Given the description of an element on the screen output the (x, y) to click on. 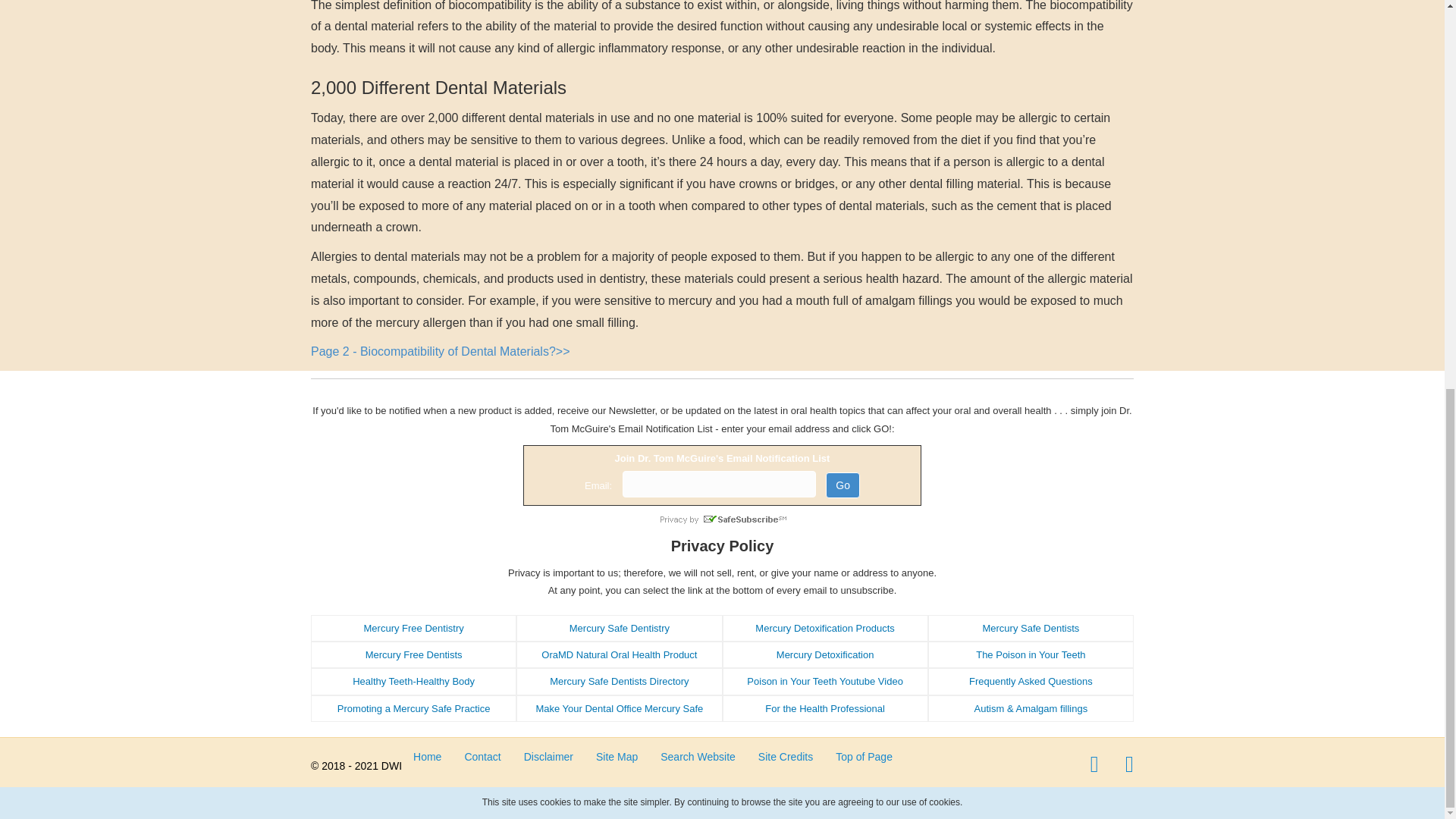
Go (842, 484)
